Given the description of an element on the screen output the (x, y) to click on. 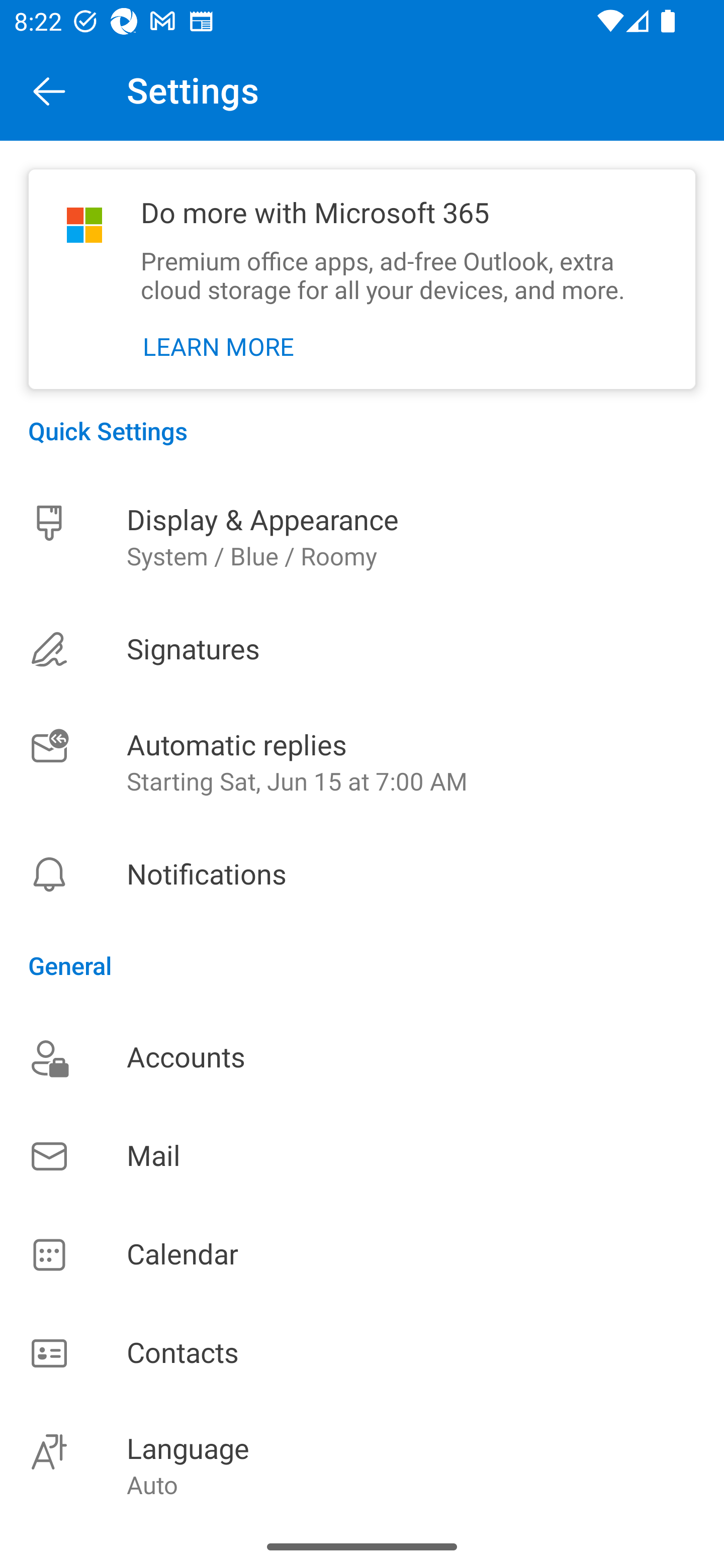
Back (49, 90)
LEARN MORE (218, 346)
Display & Appearance System / Blue / Roomy (362, 536)
Signatures (362, 649)
Automatic replies Starting Sat, Jun 15 at 7:00 AM (362, 762)
Notifications (362, 874)
Accounts (362, 1057)
Mail (362, 1156)
Calendar (362, 1254)
Contacts (362, 1353)
Language Auto (362, 1464)
